Given the description of an element on the screen output the (x, y) to click on. 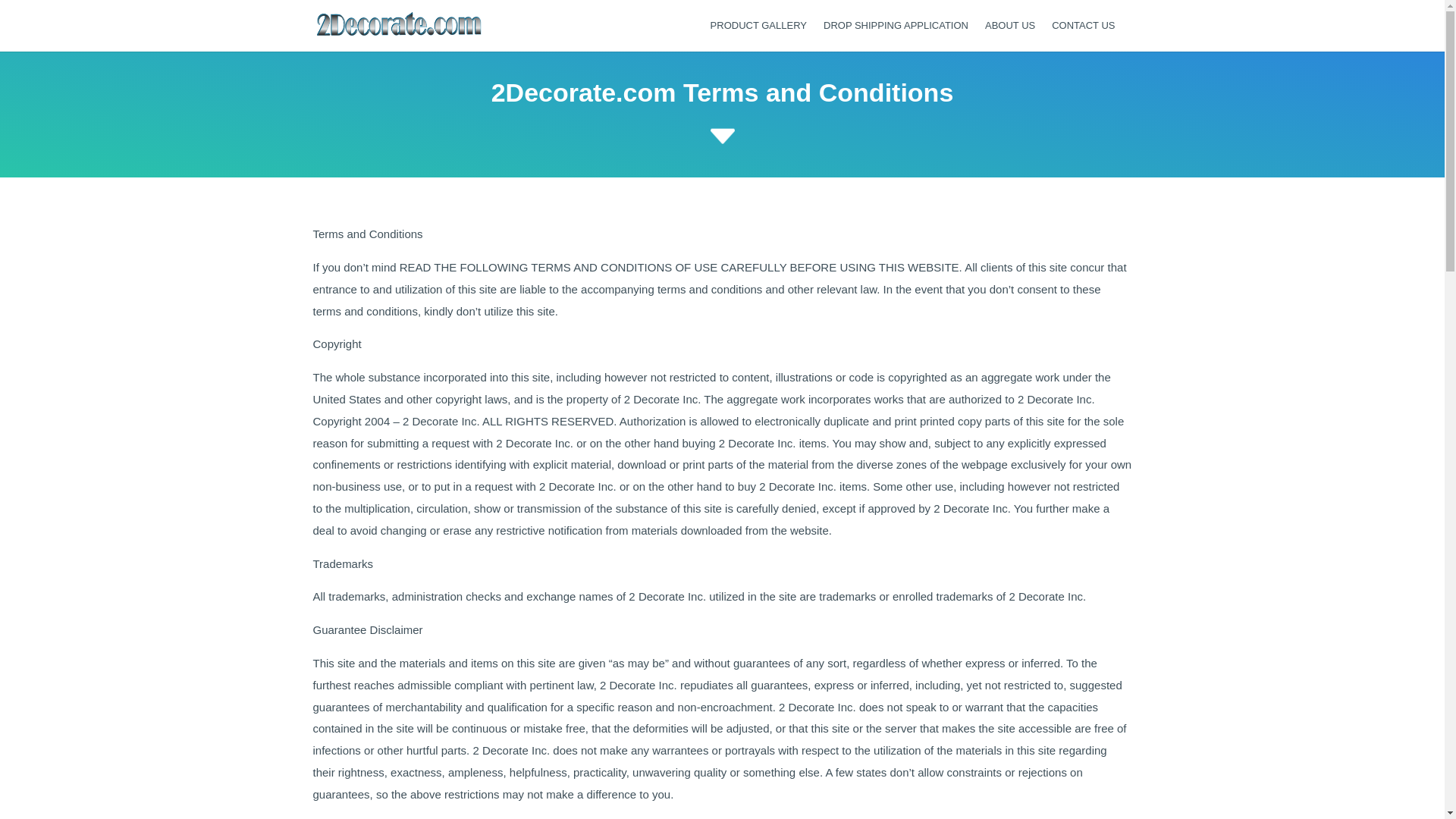
ABOUT US Element type: text (1010, 35)
C Element type: text (721, 136)
PRODUCT GALLERY Element type: text (758, 35)
DROP SHIPPING APPLICATION Element type: text (895, 35)
CONTACT US Element type: text (1082, 35)
